Given the description of an element on the screen output the (x, y) to click on. 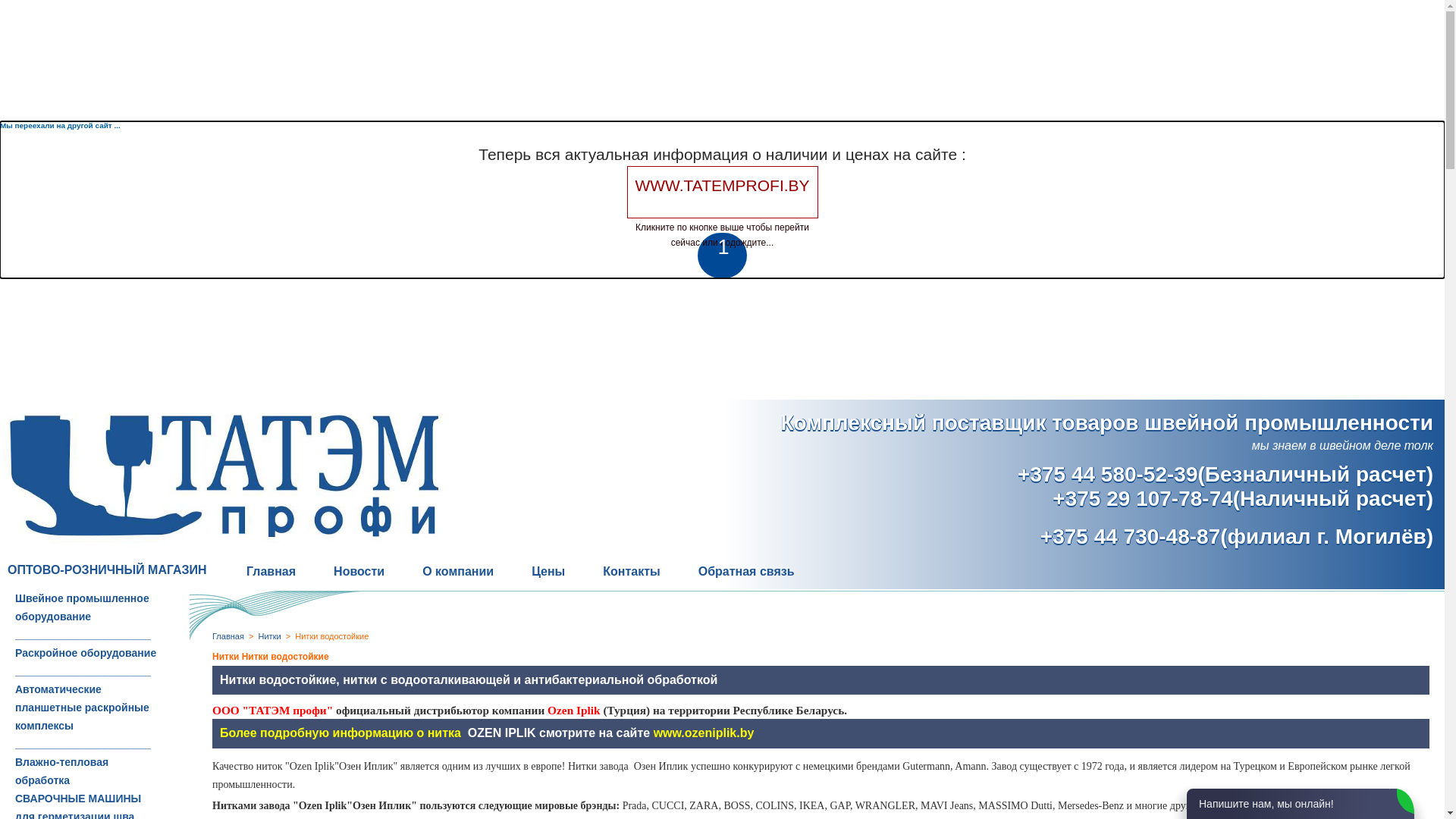
_______________________ Element type: text (82, 743)
WWW.TATEMPROFI.BY Element type: text (722, 192)
www.ozeniplik.by Element type: text (703, 732)
_______________________ Element type: text (82, 634)
_______________________ Element type: text (82, 671)
